Given the description of an element on the screen output the (x, y) to click on. 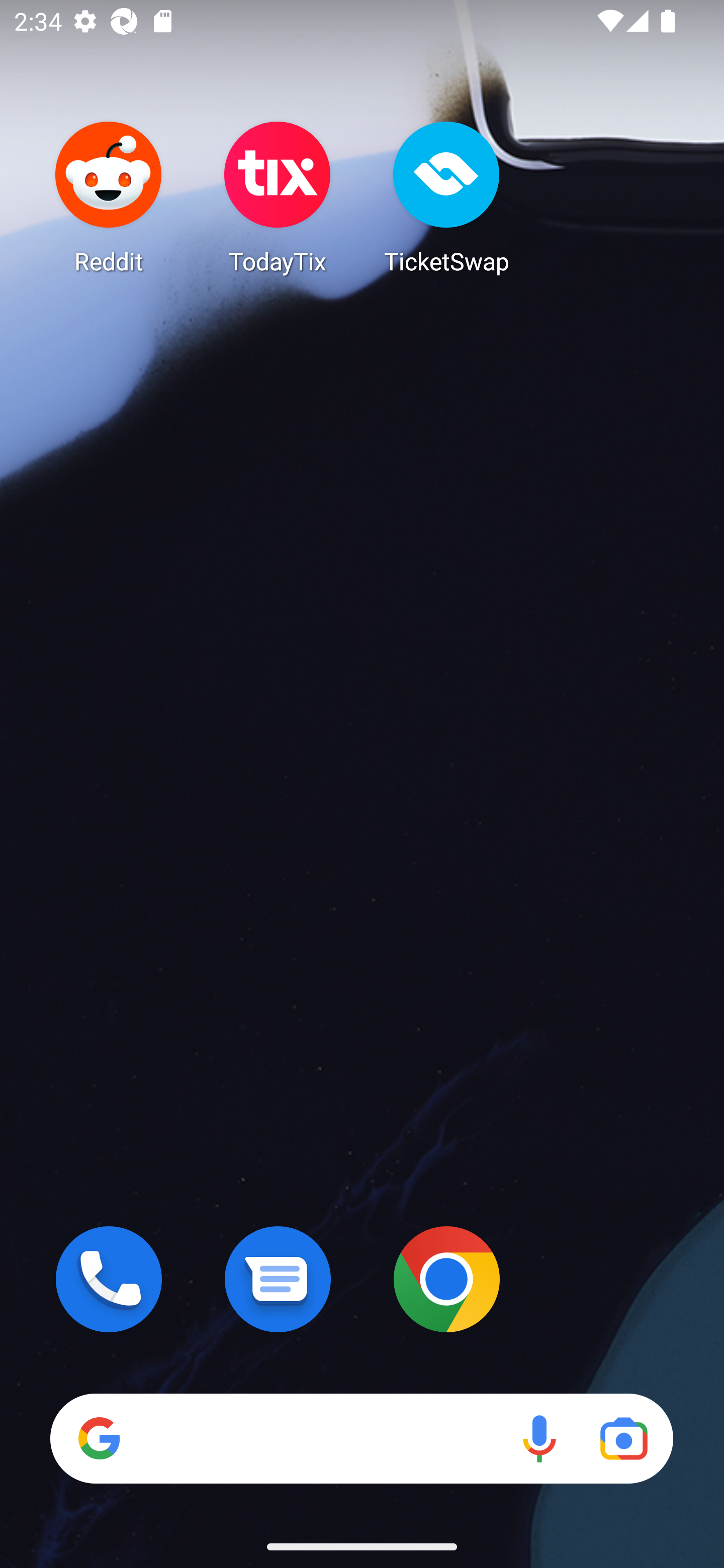
Reddit (108, 196)
TodayTix (277, 196)
TicketSwap (445, 196)
Phone (108, 1279)
Messages (277, 1279)
Chrome (446, 1279)
Voice search (539, 1438)
Google Lens (623, 1438)
